Given the description of an element on the screen output the (x, y) to click on. 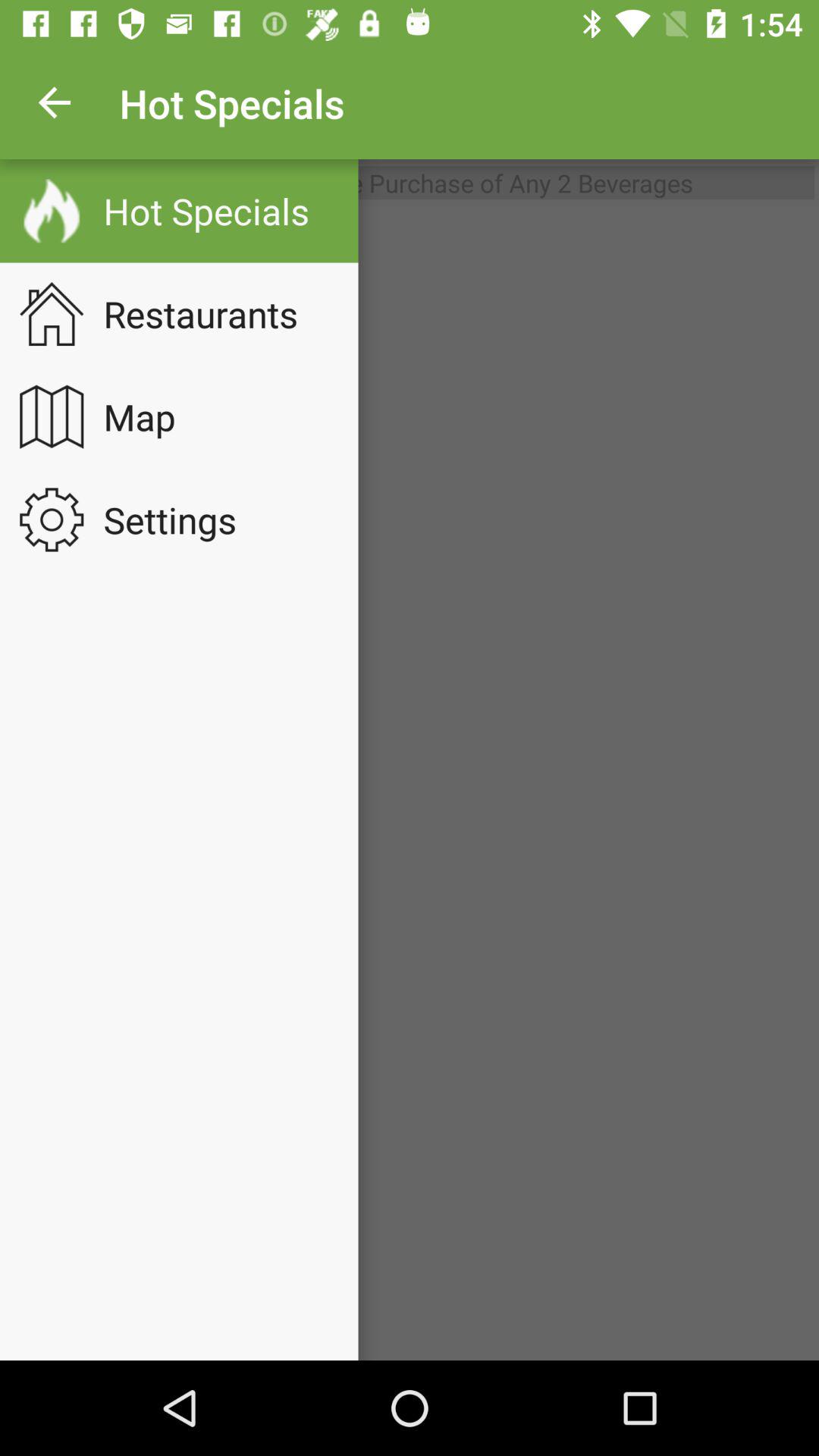
click item next to the hot specials icon (55, 103)
